Given the description of an element on the screen output the (x, y) to click on. 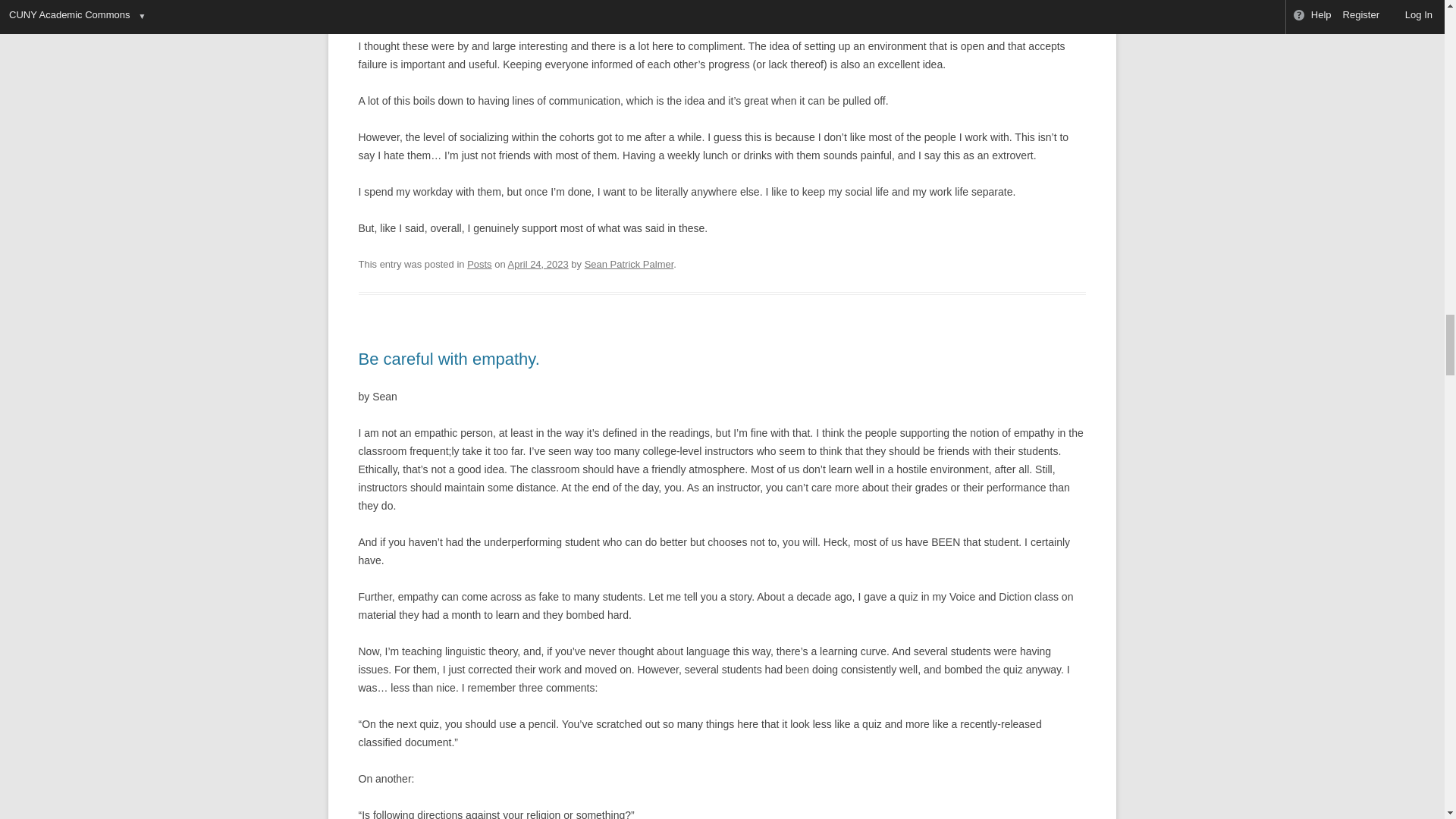
Sean Patrick Palmer (629, 264)
April 24, 2023 (538, 264)
Be careful with empathy. (448, 358)
Posts (479, 264)
